Given the description of an element on the screen output the (x, y) to click on. 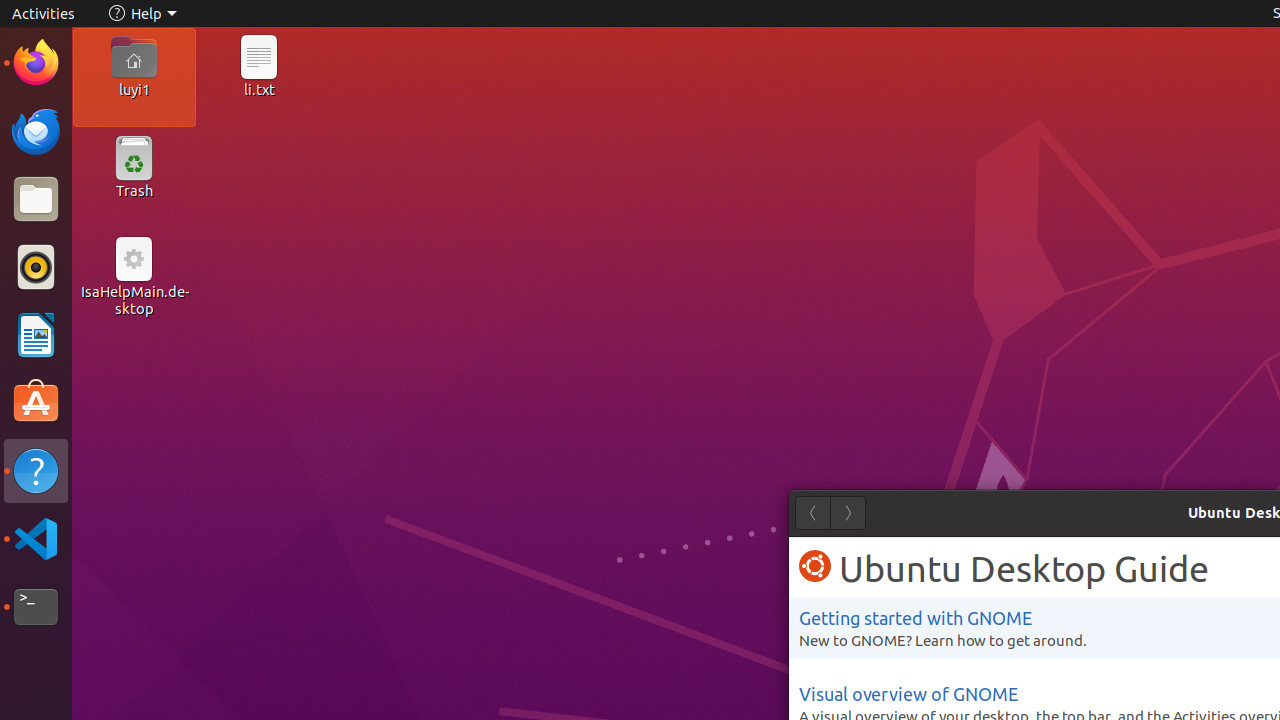
Forward Element type: push-button (848, 513)
Back Element type: push-button (812, 513)
luyi1 Element type: label (133, 89)
